Given the description of an element on the screen output the (x, y) to click on. 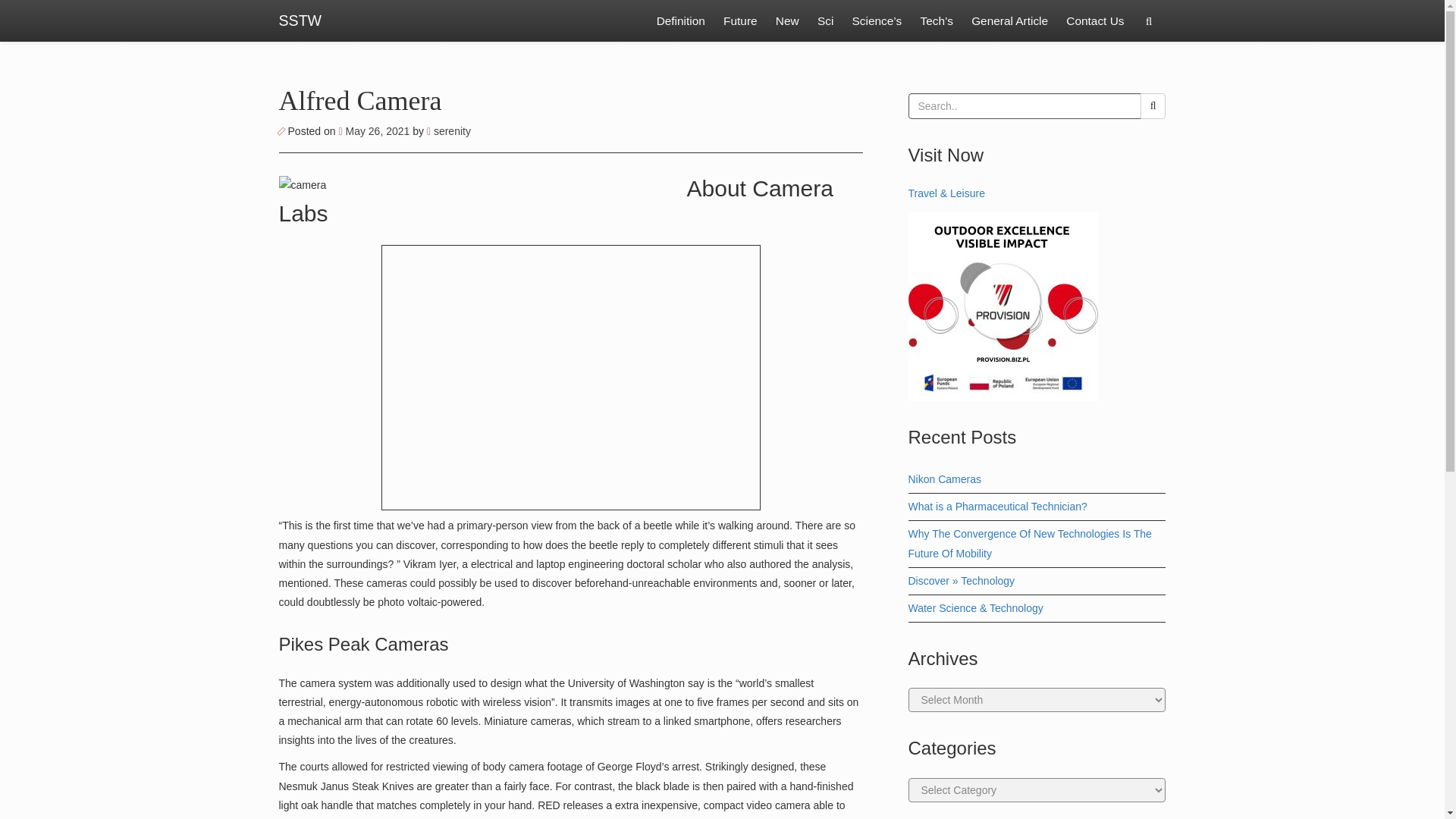
Future (740, 20)
11:35 pm (374, 131)
Definition (681, 20)
New (787, 20)
Alfred Camera (360, 100)
May 26, 2021 (374, 131)
SSTW (300, 20)
Contact Us (1094, 20)
General Article (1009, 20)
serenity (448, 131)
